Given the description of an element on the screen output the (x, y) to click on. 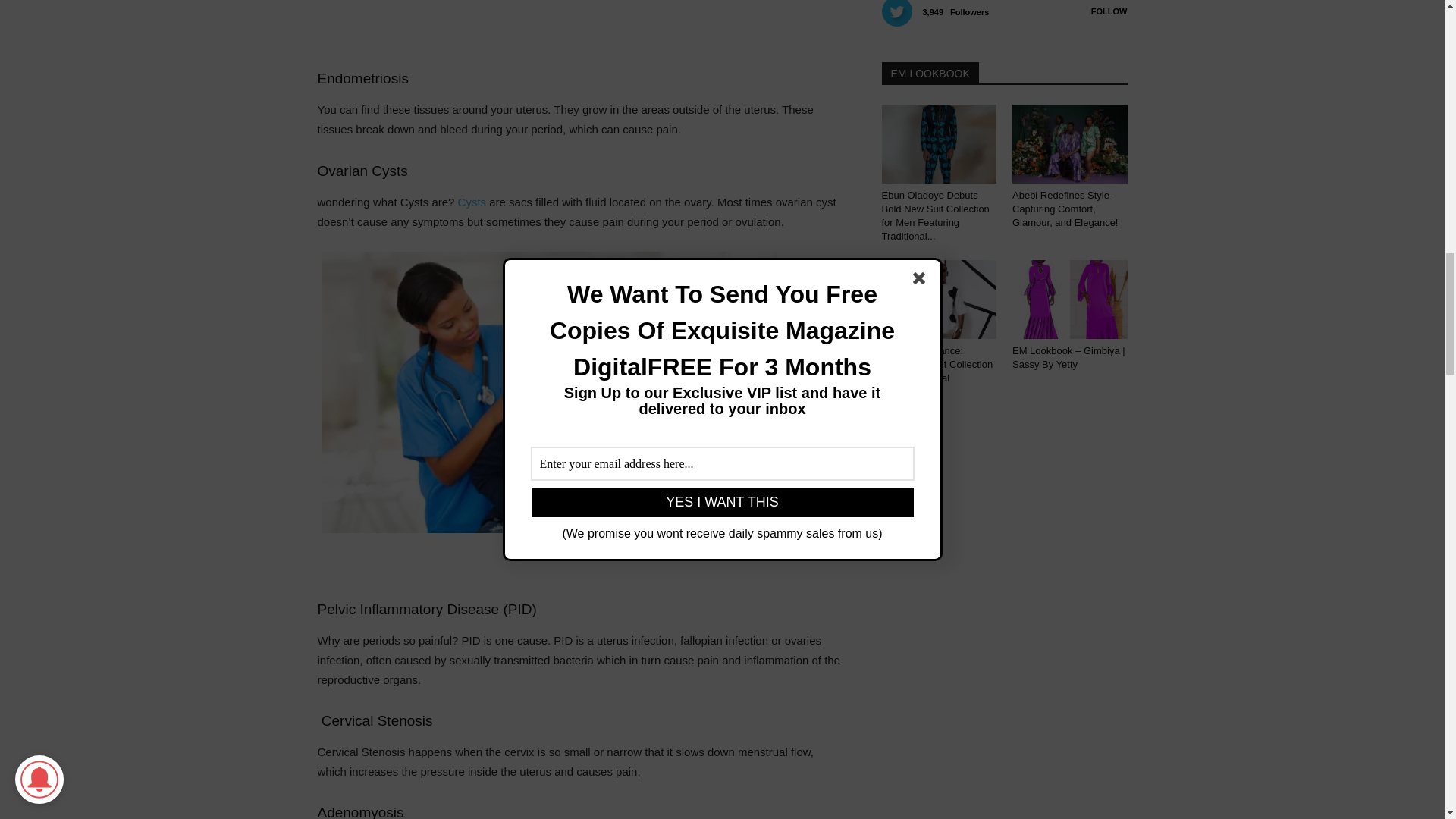
Why Are Periods So Painful? And When You Should Be Worried 2 (548, 392)
